Given the description of an element on the screen output the (x, y) to click on. 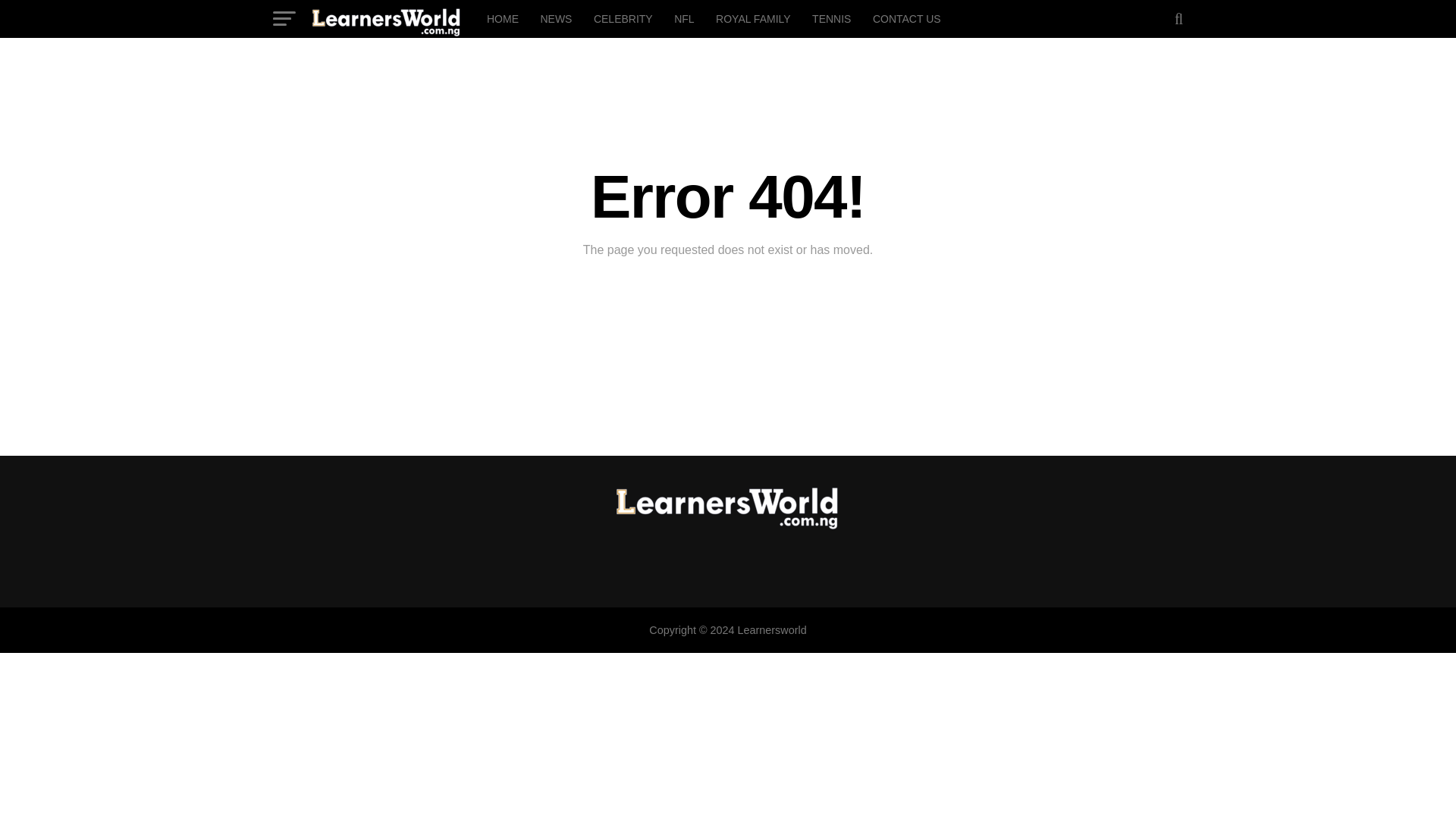
CONTACT US (906, 18)
NFL (684, 18)
HOME (502, 18)
TENNIS (831, 18)
ROYAL FAMILY (752, 18)
NEWS (555, 18)
CELEBRITY (623, 18)
